Given the description of an element on the screen output the (x, y) to click on. 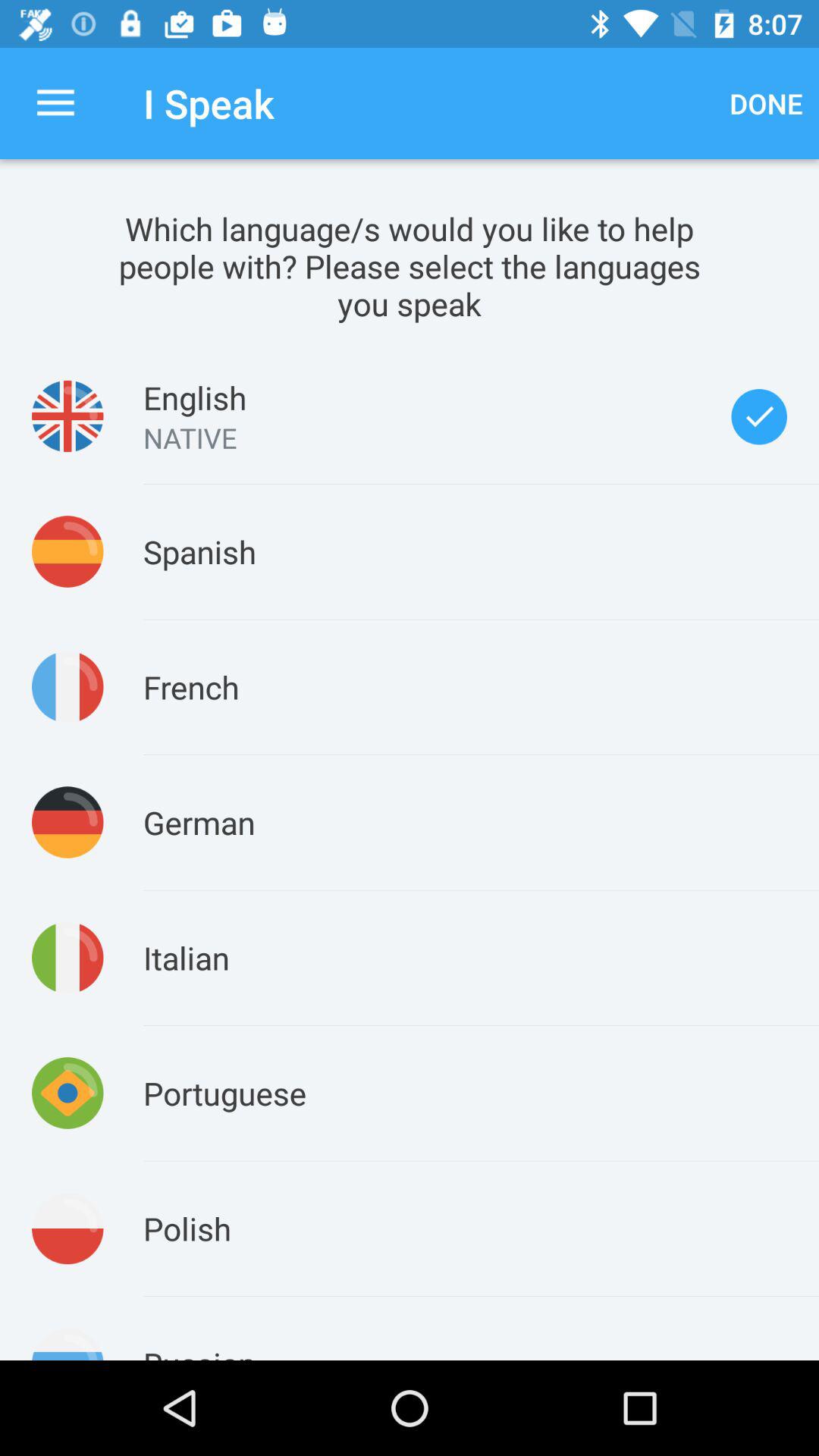
scroll to the done item (766, 103)
